Given the description of an element on the screen output the (x, y) to click on. 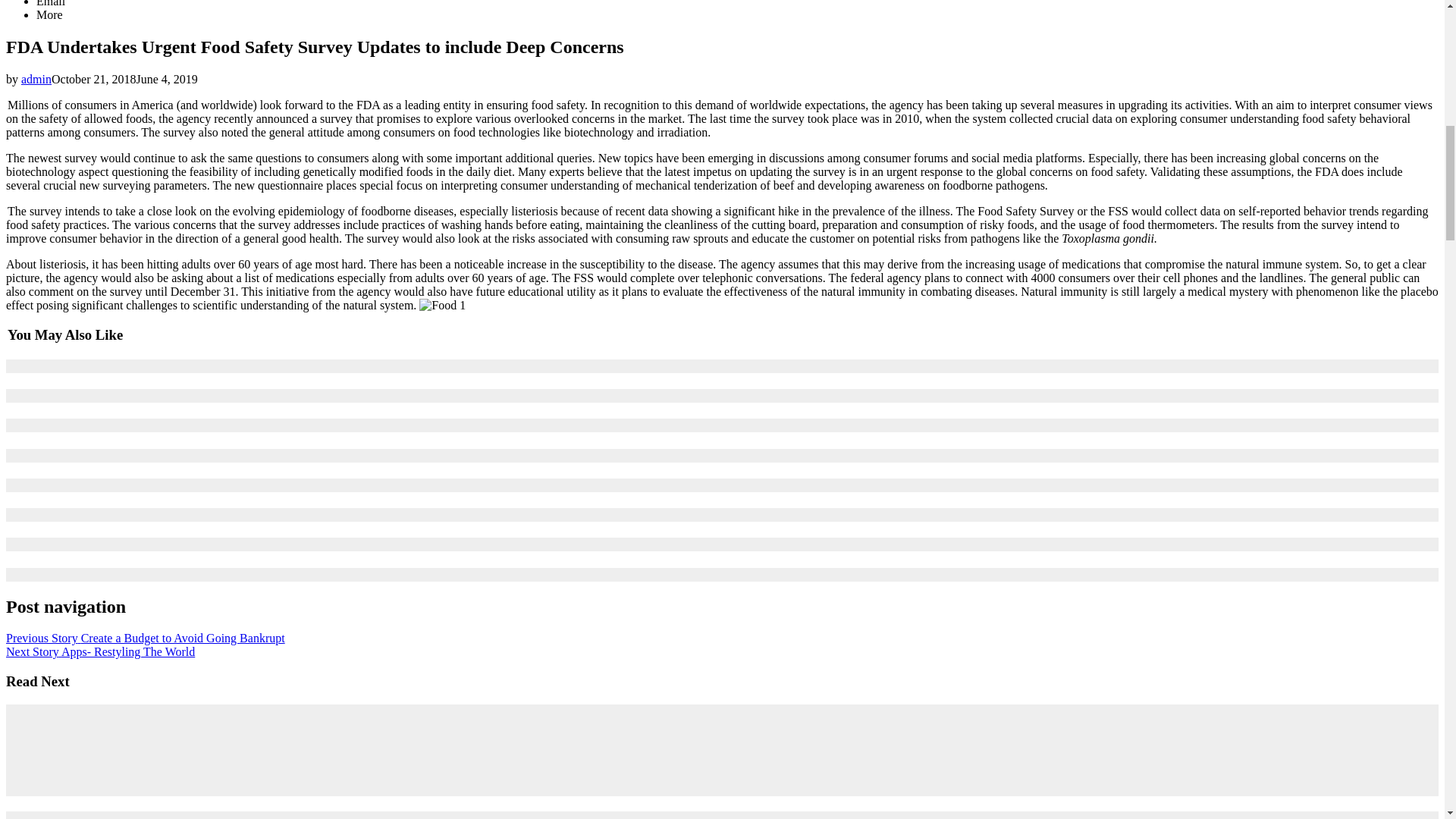
Email (50, 3)
More (49, 14)
Share via Email (50, 3)
More (49, 14)
